Given the description of an element on the screen output the (x, y) to click on. 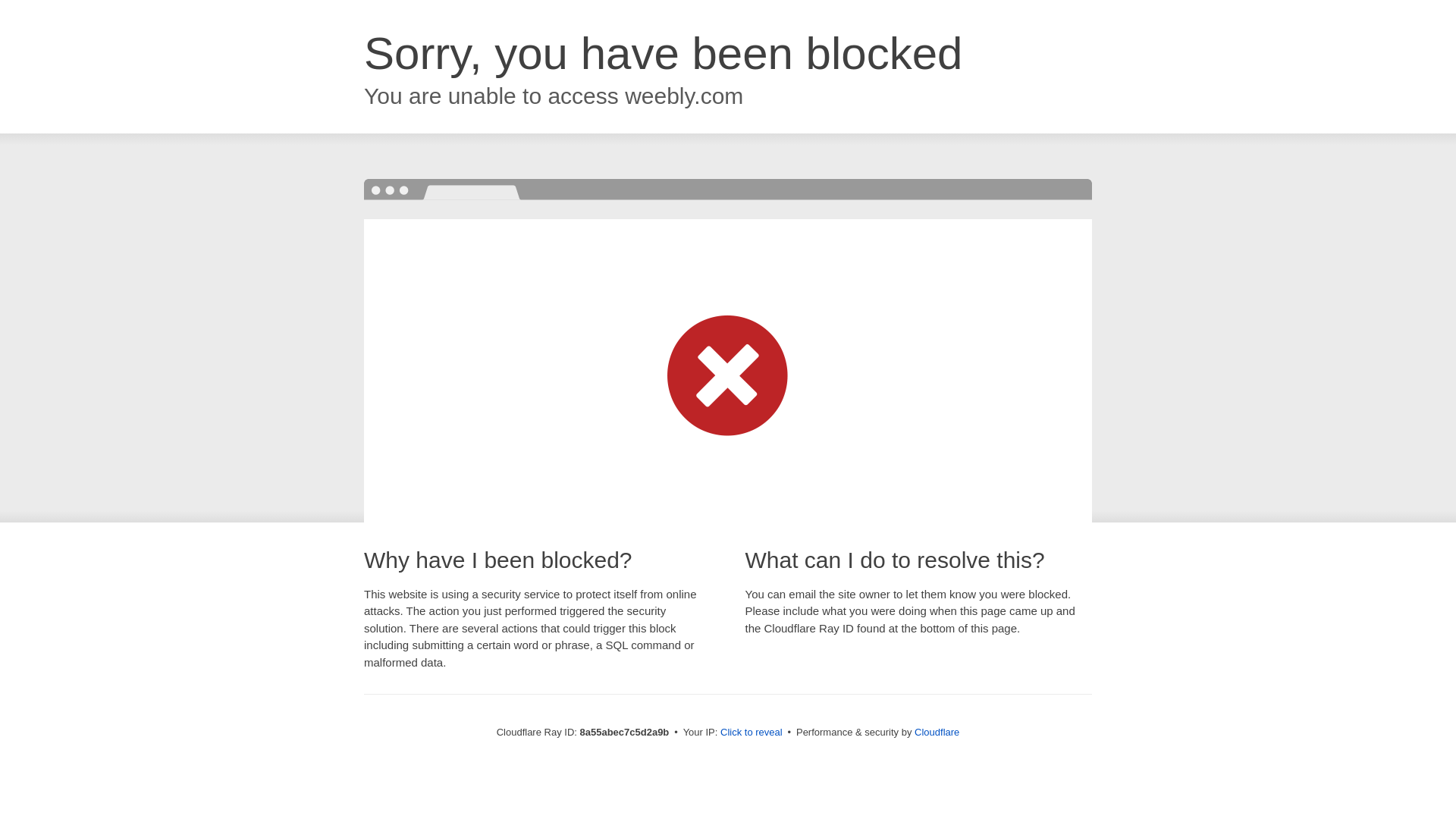
Click to reveal (751, 732)
Cloudflare (936, 731)
